Given the description of an element on the screen output the (x, y) to click on. 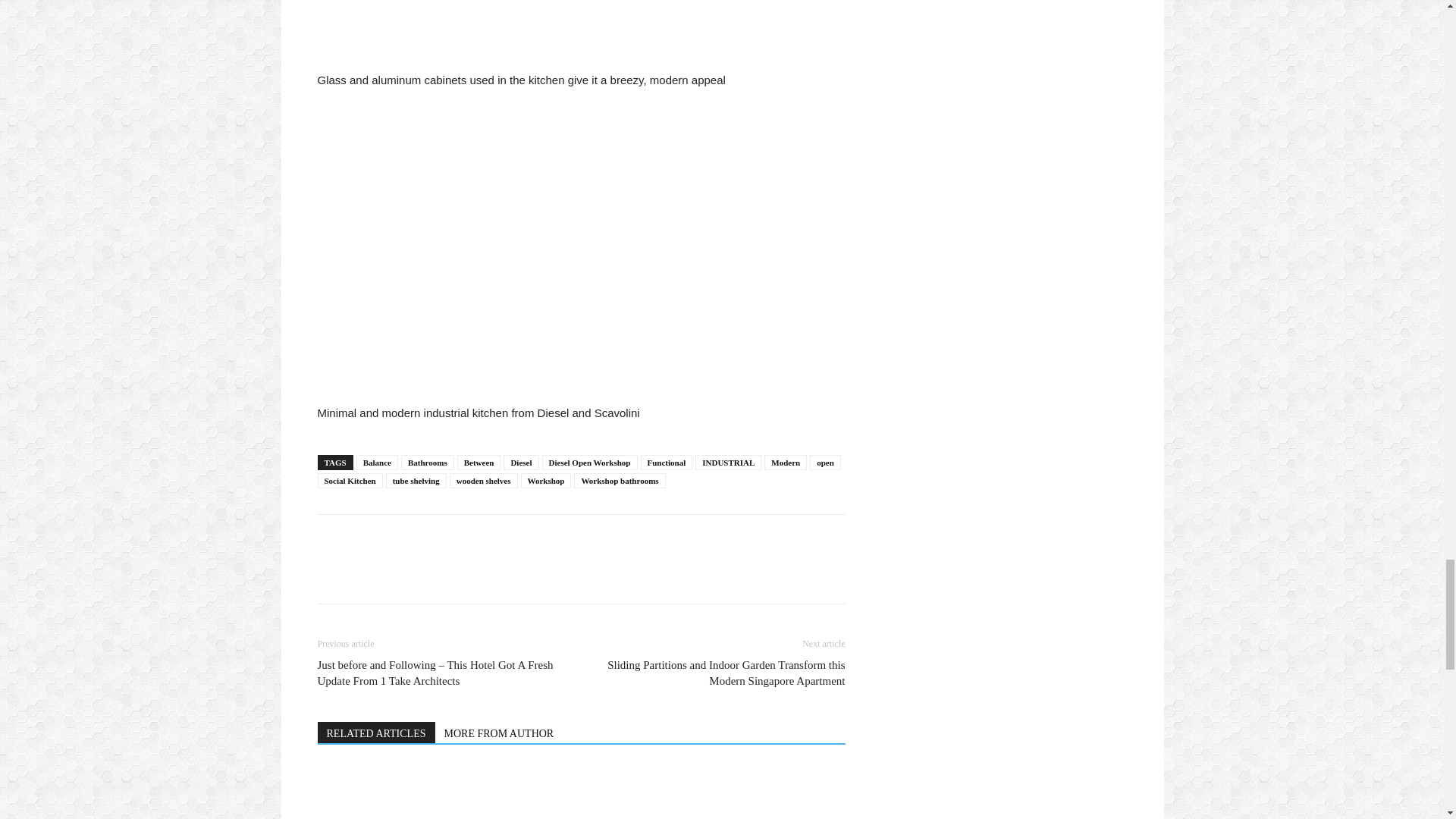
Between (478, 462)
Bathrooms (427, 462)
bottomFacebookLike (430, 538)
Balance (376, 462)
